Given the description of an element on the screen output the (x, y) to click on. 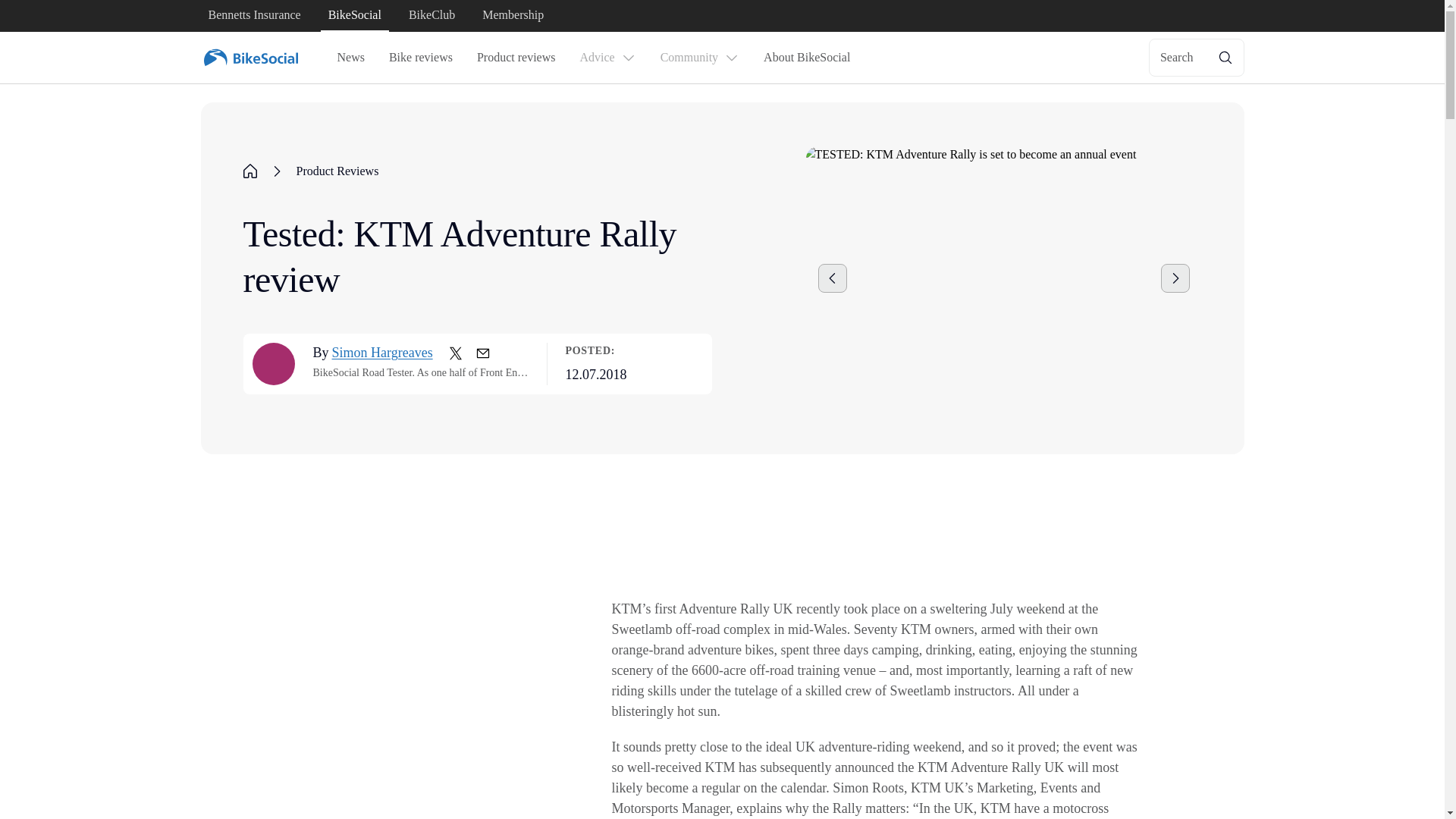
Product Reviews (336, 171)
Search (1196, 57)
BikeSocial (354, 15)
Advice (607, 57)
Simon Hargreaves (381, 353)
Membership (512, 15)
Community (699, 57)
News (349, 57)
BikeClub (432, 15)
Product reviews (515, 57)
About BikeSocial (806, 57)
Bike reviews (420, 57)
Bennetts Insurance (253, 15)
